Given the description of an element on the screen output the (x, y) to click on. 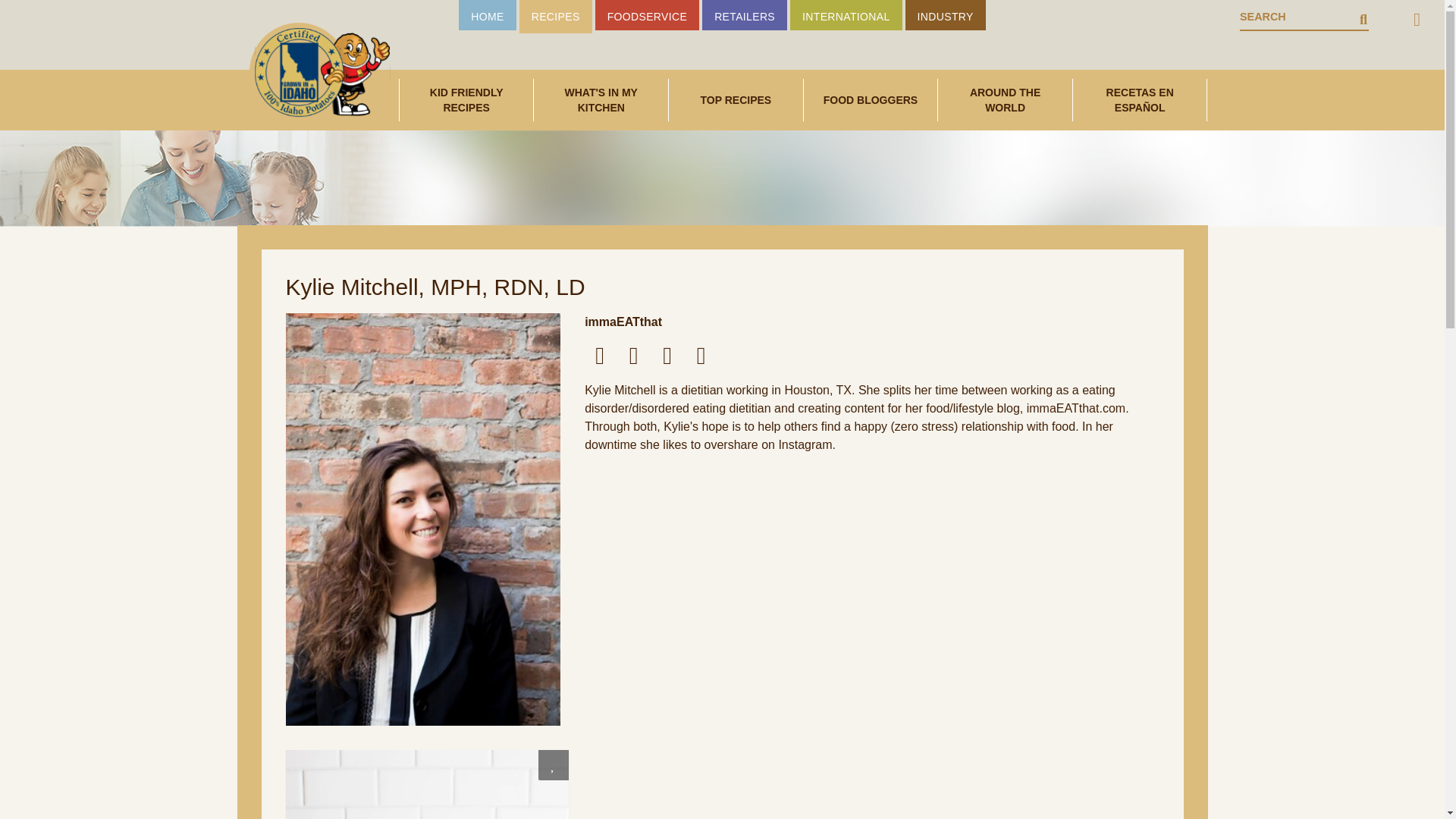
TOP RECIPES (735, 99)
INDUSTRY (945, 15)
FOODSERVICE (647, 15)
INTERNATIONAL (846, 15)
WHAT'S IN MY KITCHEN (601, 99)
HOME (486, 15)
FOOD BLOGGERS (870, 99)
KID FRIENDLY RECIPES (466, 99)
RETAILERS (744, 15)
RECIPES (555, 16)
